Given the description of an element on the screen output the (x, y) to click on. 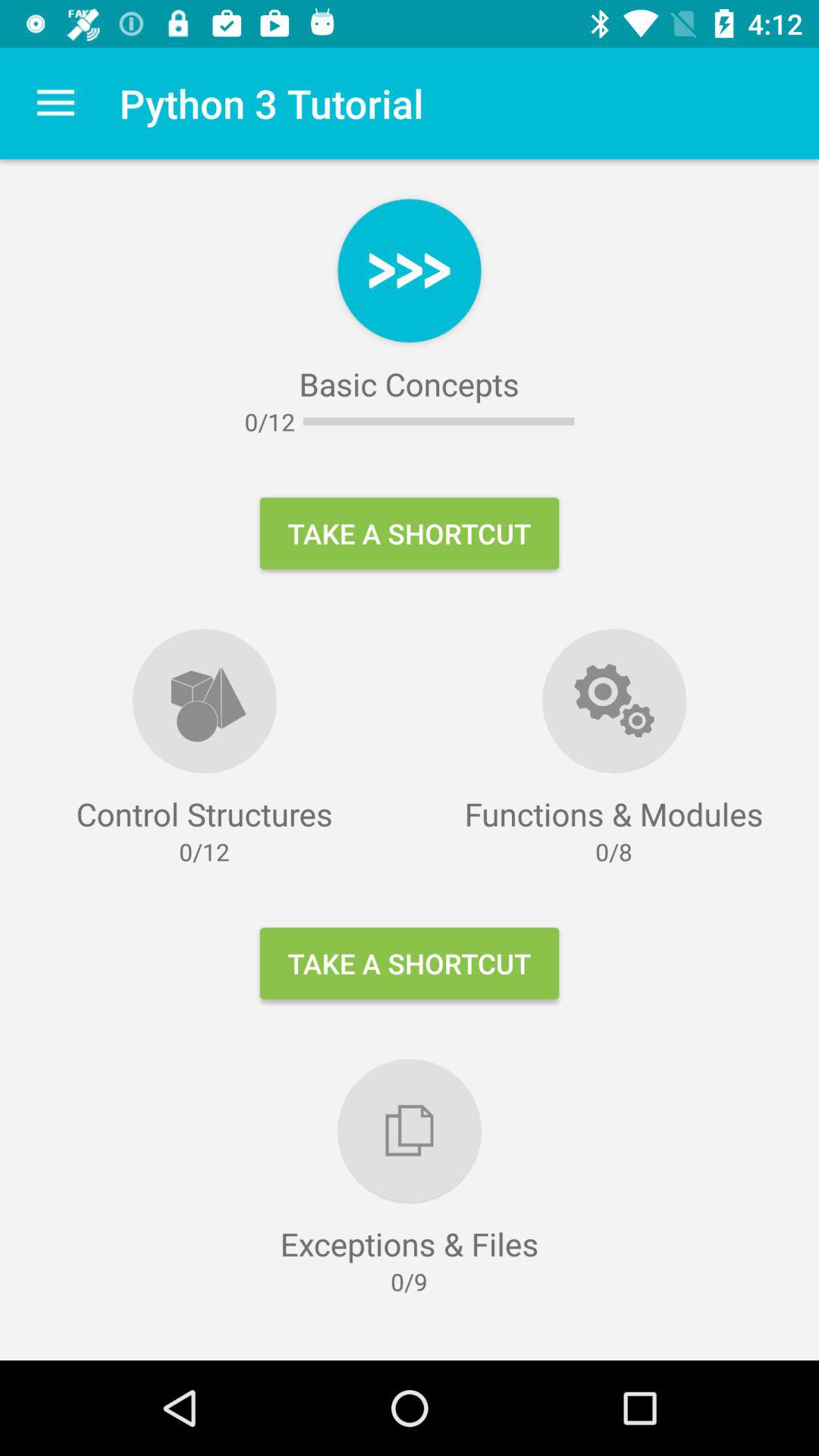
turn on item next to python 3 tutorial (55, 103)
